Given the description of an element on the screen output the (x, y) to click on. 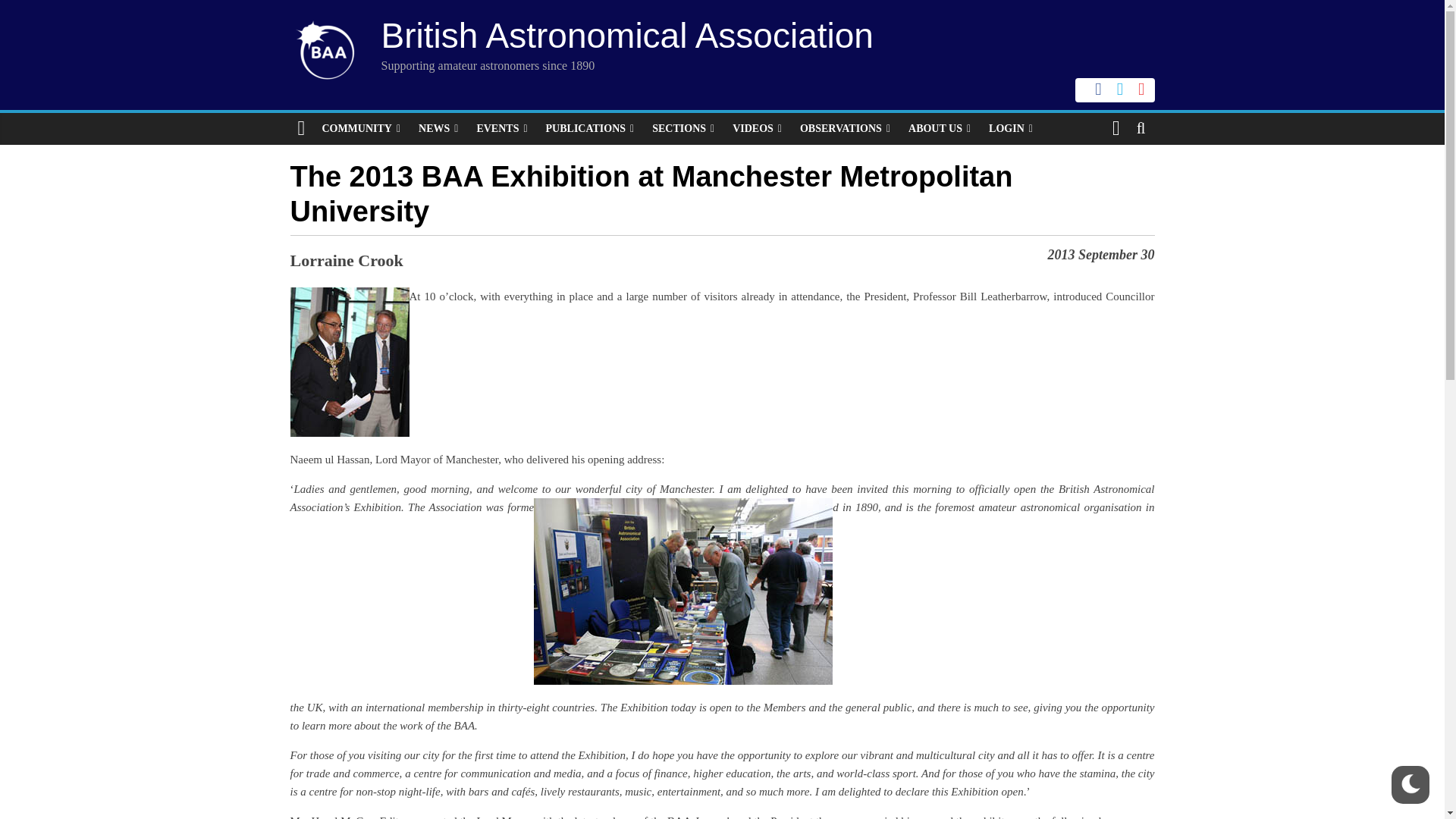
EVENTS (501, 128)
British Astronomical Association (626, 35)
COMMUNITY (361, 128)
British Astronomical Association (626, 35)
SECTIONS (683, 128)
PUBLICATIONS (590, 128)
NEWS (438, 128)
